Given the description of an element on the screen output the (x, y) to click on. 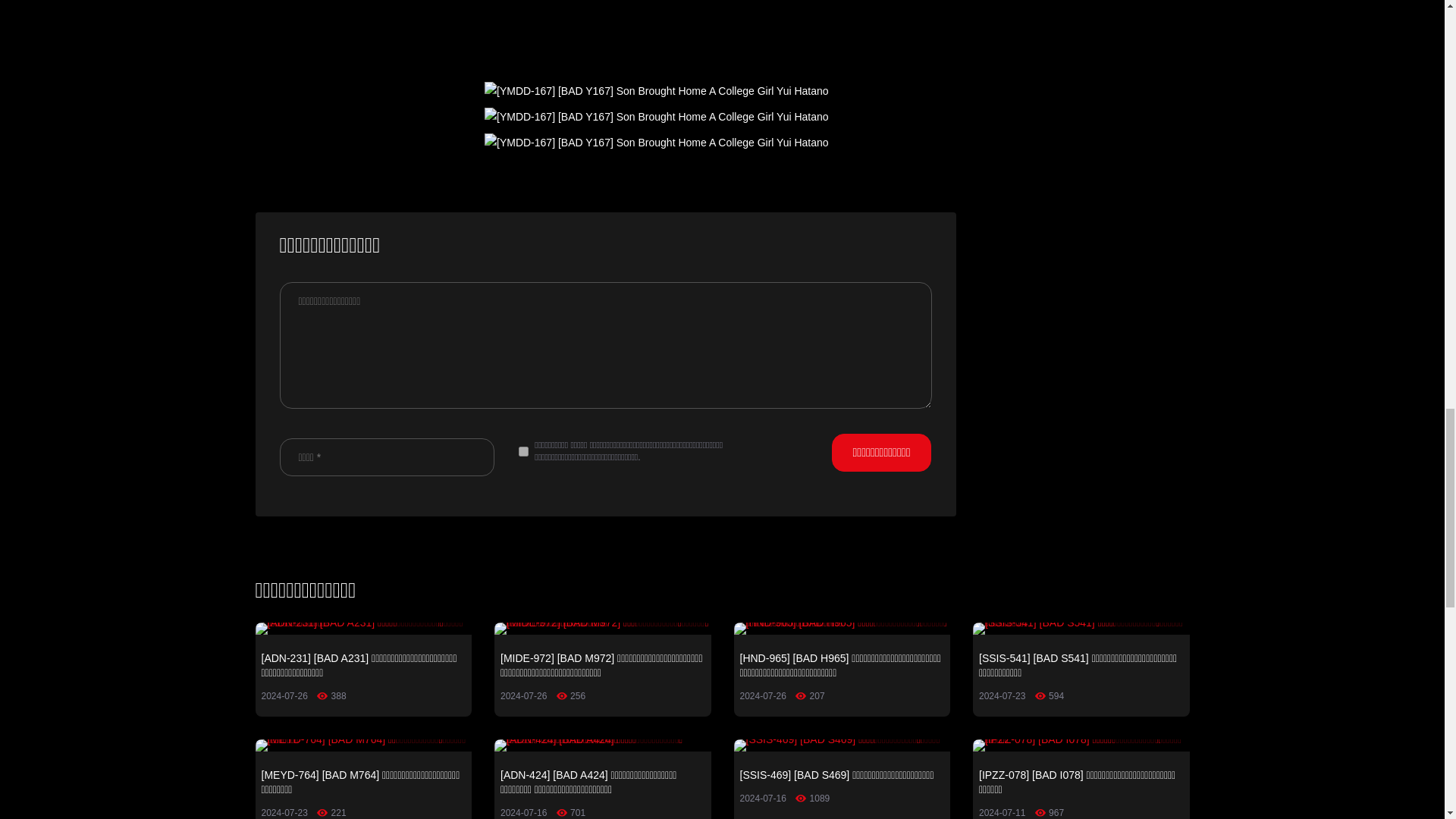
yes (523, 450)
